Given the description of an element on the screen output the (x, y) to click on. 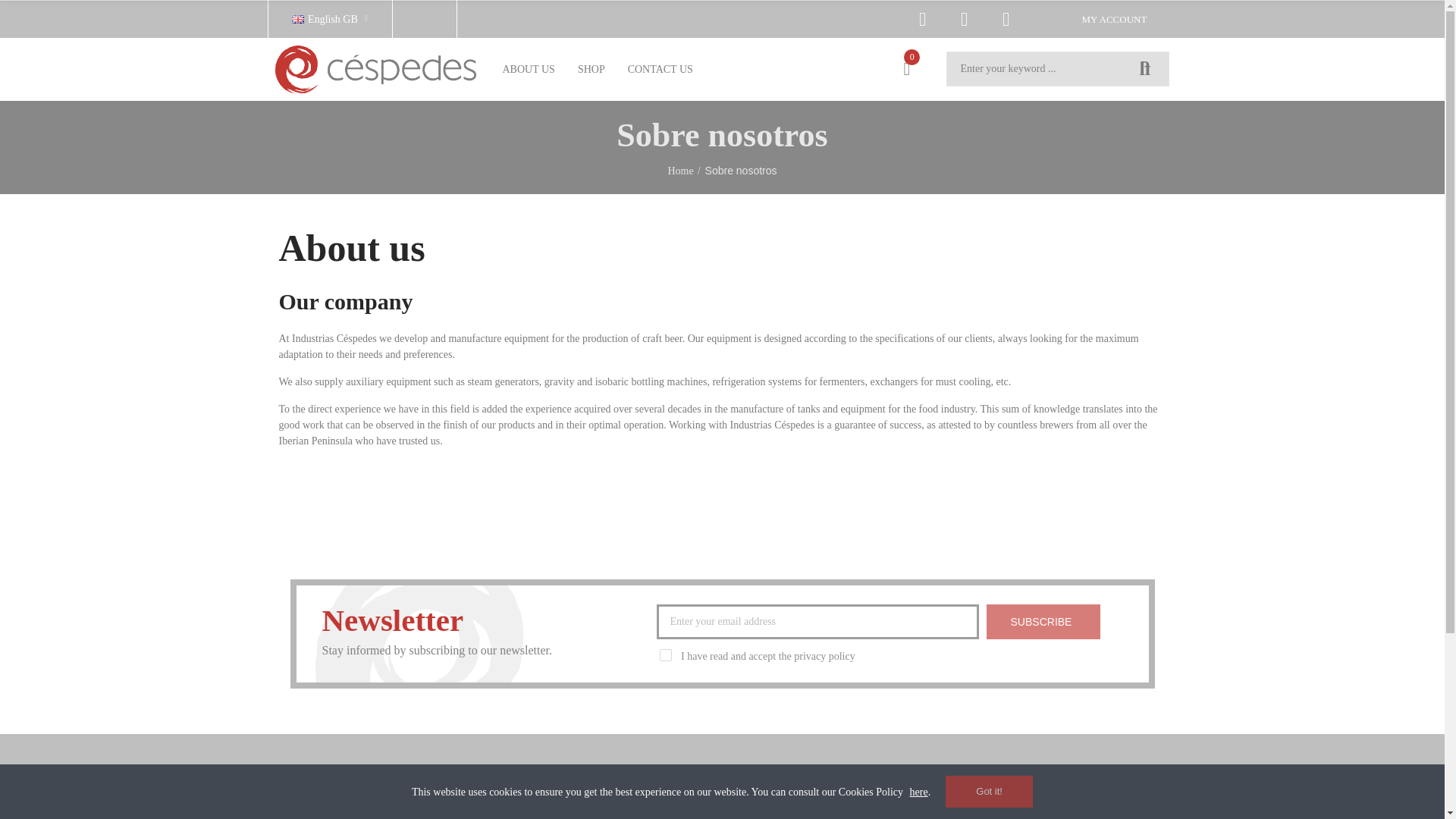
SHOP (590, 68)
MY ACCOUNT (1114, 18)
Sobre nosotros (529, 68)
Mini Cart (906, 68)
Home (590, 68)
Contact us (659, 68)
0 (906, 68)
CONTACT US (659, 68)
ABOUT US (529, 68)
Search (1145, 68)
